Given the description of an element on the screen output the (x, y) to click on. 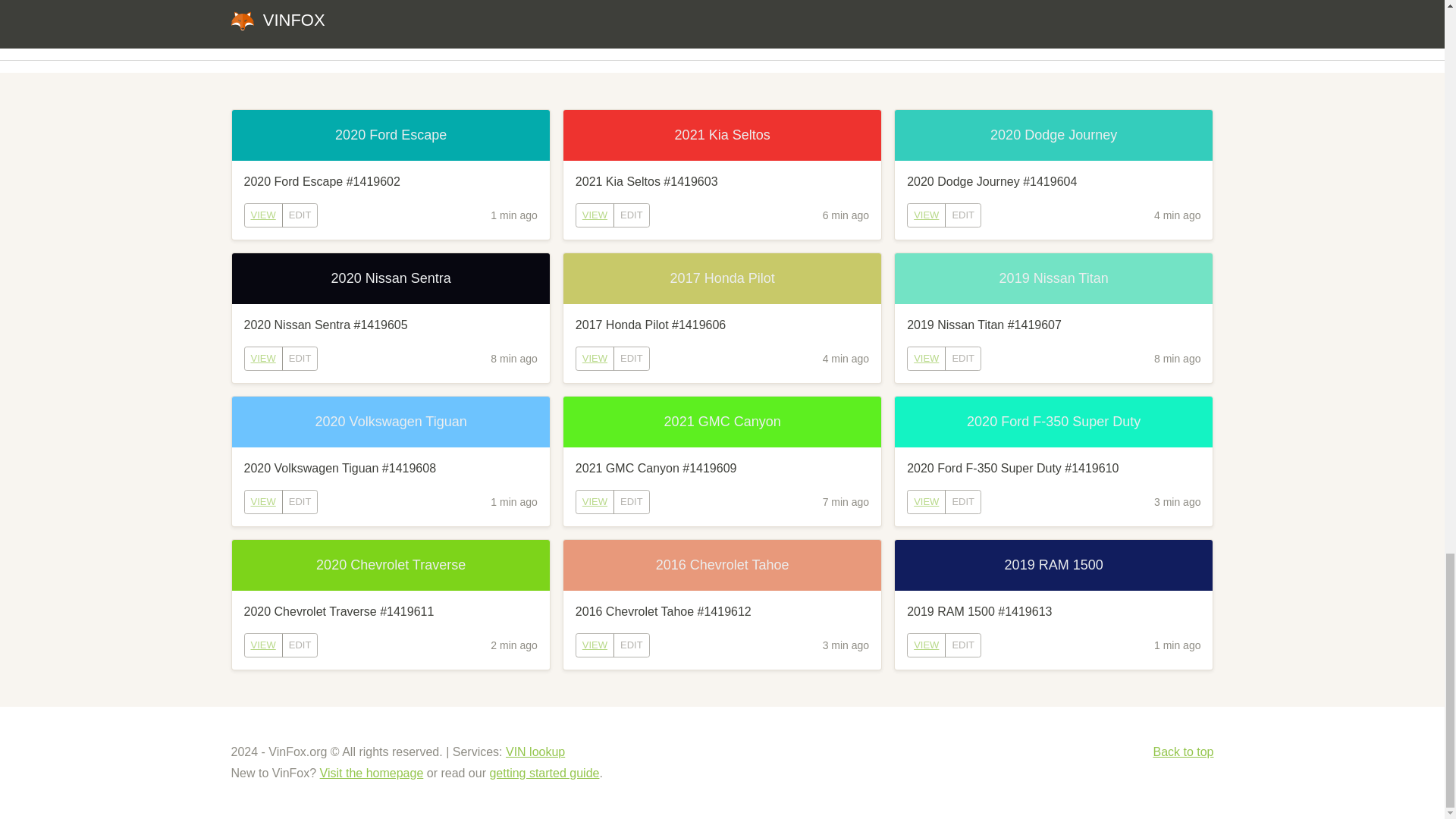
EDIT (962, 215)
VIEW (263, 215)
EDIT (300, 358)
2020 Volkswagen Tiguan (390, 421)
2016 Chevrolet Tahoe (721, 564)
EDIT (630, 358)
VIEW (262, 357)
2020 Chevrolet Traverse (390, 564)
2021 Kia Seltos (721, 134)
2020 Ford F-350 Super Duty (1053, 421)
2020 Ford Escape (390, 134)
VIN lookup (534, 751)
EDIT (962, 358)
EDIT (962, 501)
EDIT (300, 501)
